Given the description of an element on the screen output the (x, y) to click on. 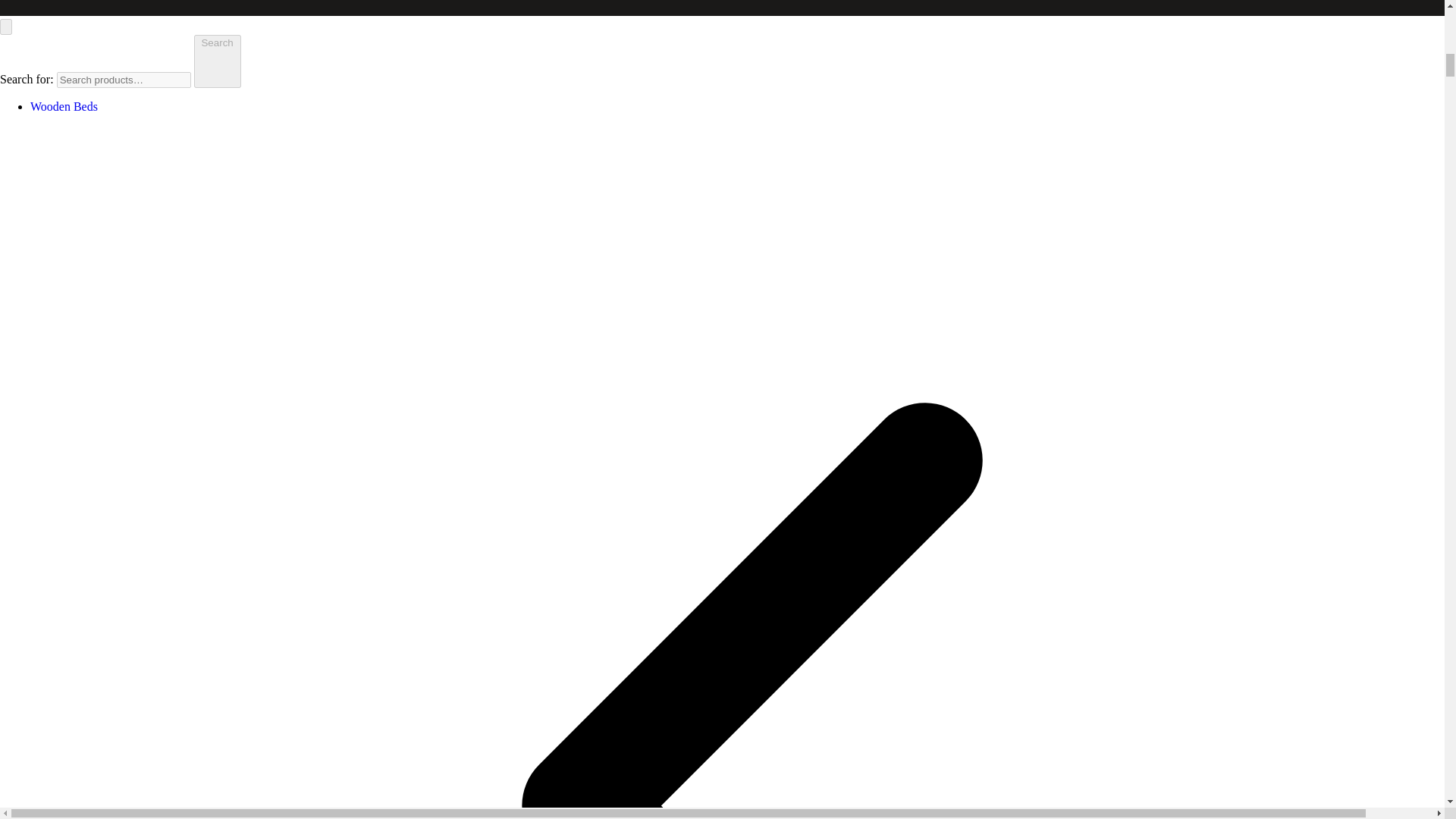
Wooden Beds (63, 106)
